Given the description of an element on the screen output the (x, y) to click on. 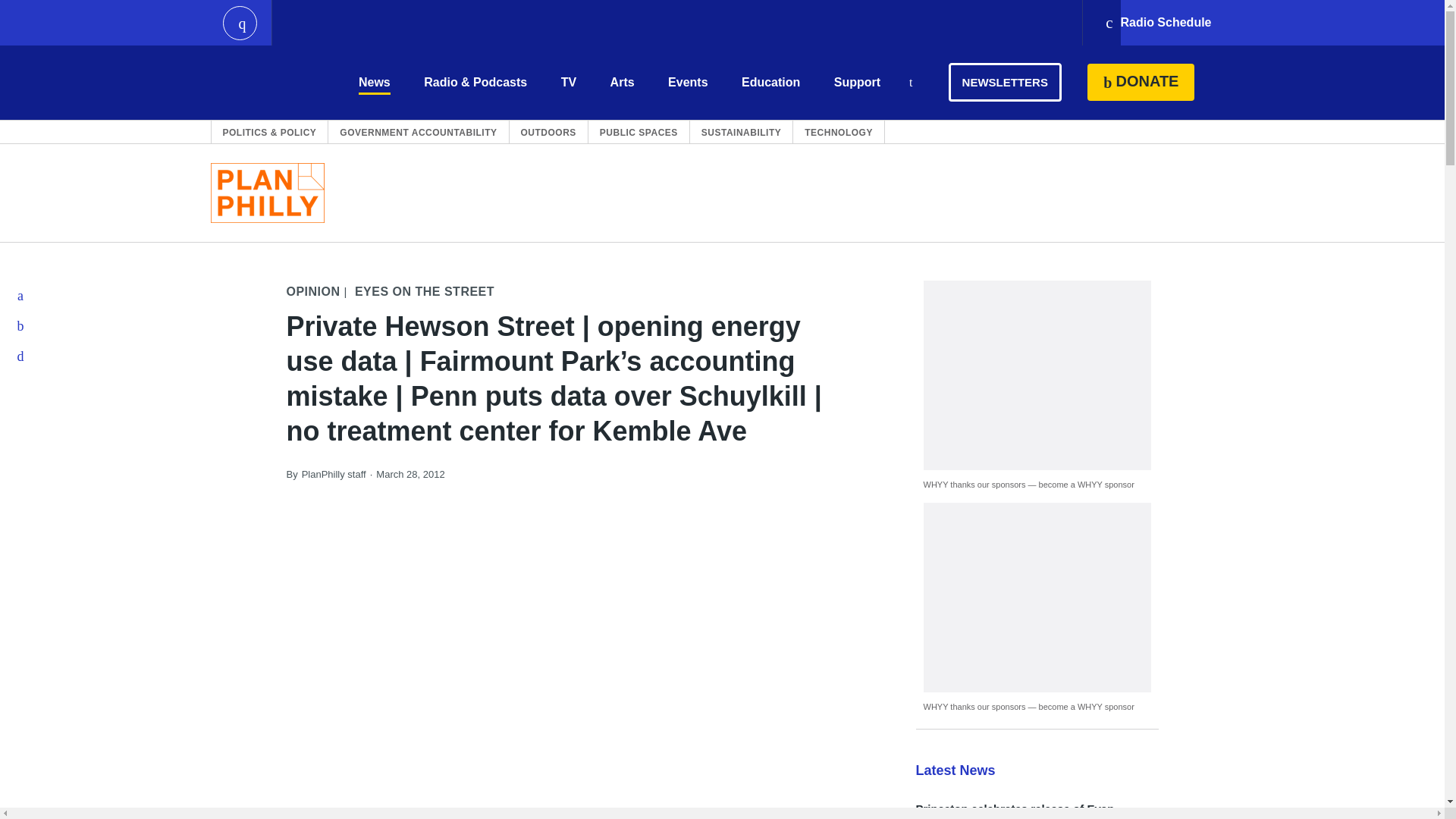
WHYY (266, 82)
Search (910, 83)
Twitter (21, 326)
GOVERNMENT ACCOUNTABILITY (417, 132)
PUBLIC SPACES (638, 132)
OUTDOORS (548, 132)
Email (21, 356)
Radio Schedule (1157, 22)
Facebook (21, 295)
plan-philly-masthead-sm (267, 192)
